Given the description of an element on the screen output the (x, y) to click on. 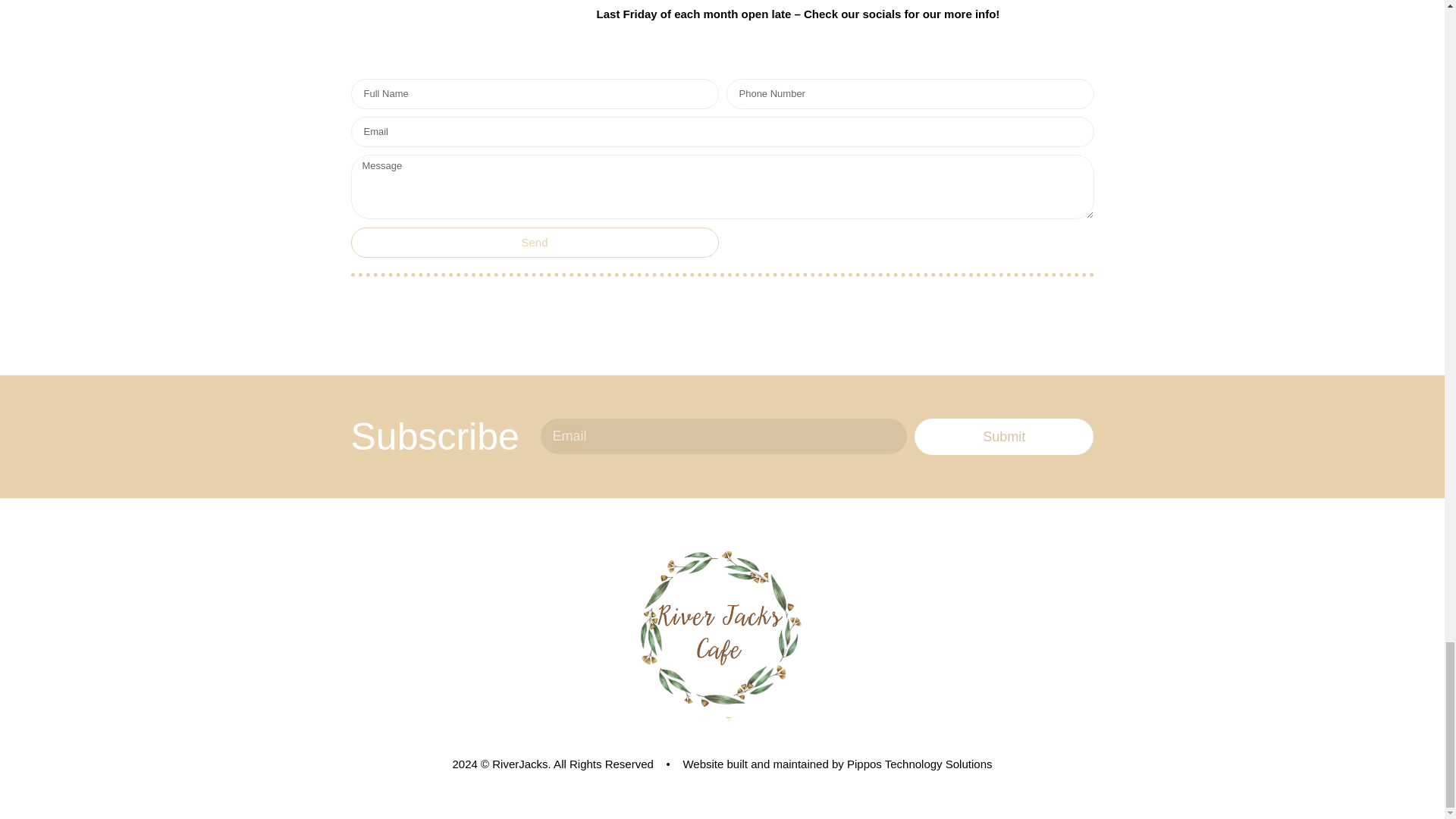
Submit (1004, 436)
Send (533, 242)
Pippos Technology Solutions (919, 763)
